Given the description of an element on the screen output the (x, y) to click on. 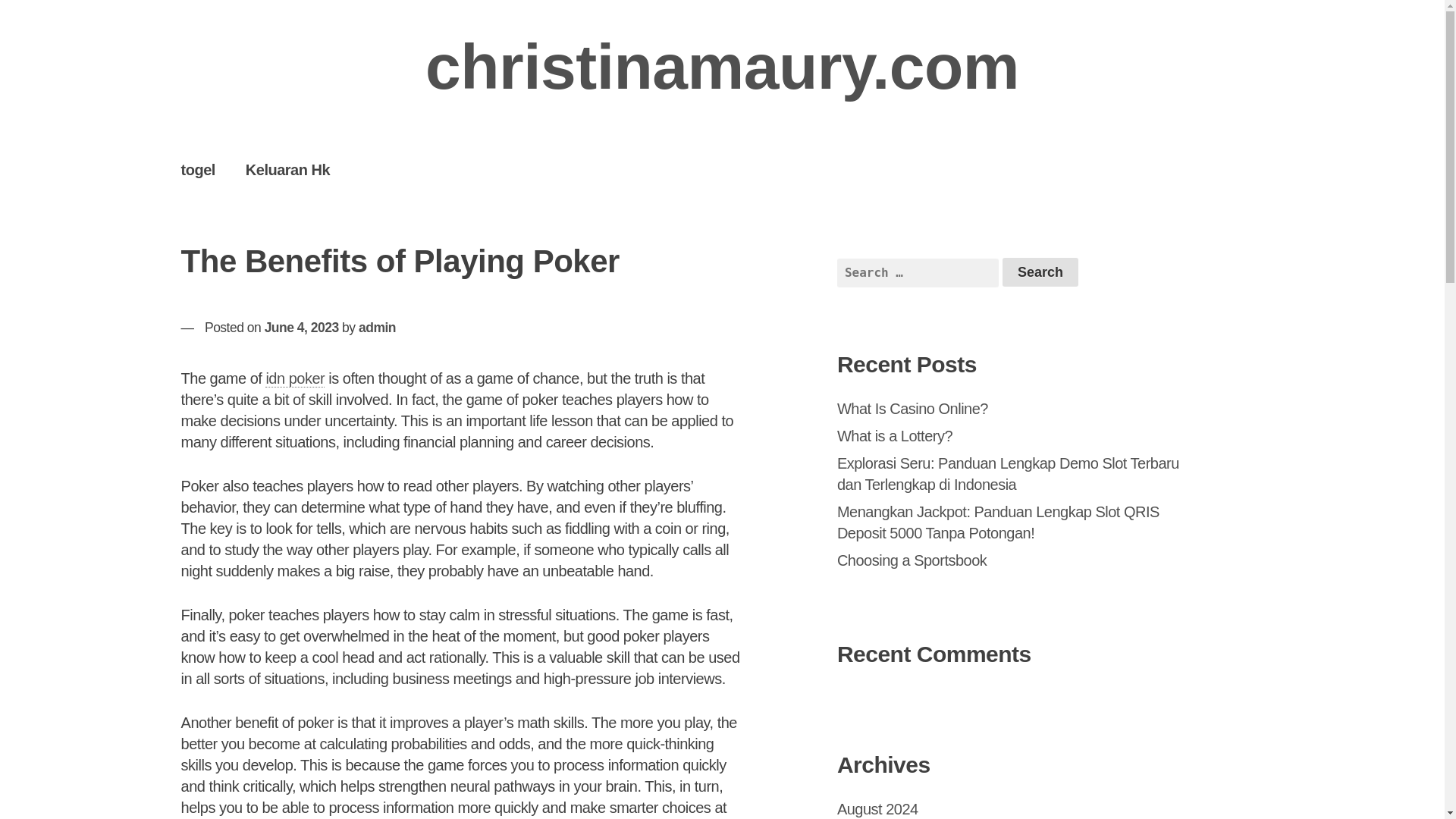
What is a Lottery? (894, 435)
Search (1040, 271)
togel (197, 169)
admin (377, 327)
What Is Casino Online? (912, 408)
June 4, 2023 (301, 327)
Choosing a Sportsbook (912, 560)
Search (1040, 271)
Search (1040, 271)
August 2024 (877, 808)
idn poker (294, 378)
christinamaury.com (722, 66)
Keluaran Hk (287, 169)
